Given the description of an element on the screen output the (x, y) to click on. 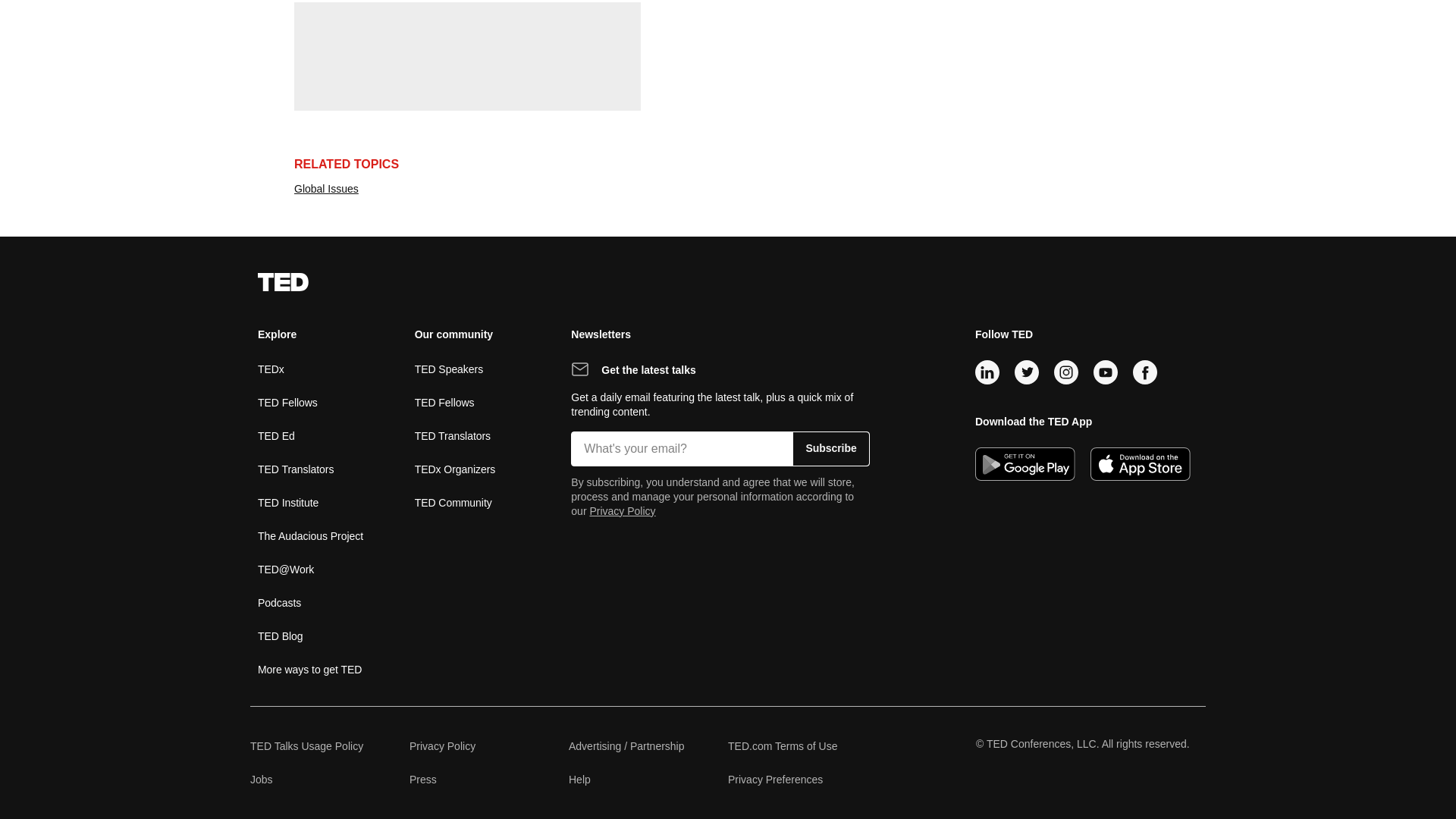
Subscribe (460, 118)
TED Institute (830, 449)
Podcasts (287, 502)
TEDx (279, 602)
TEDx Organizers (270, 368)
TED Fellows (455, 468)
TED Blog (287, 401)
TED Translators (279, 635)
TED Community (452, 435)
